Given the description of an element on the screen output the (x, y) to click on. 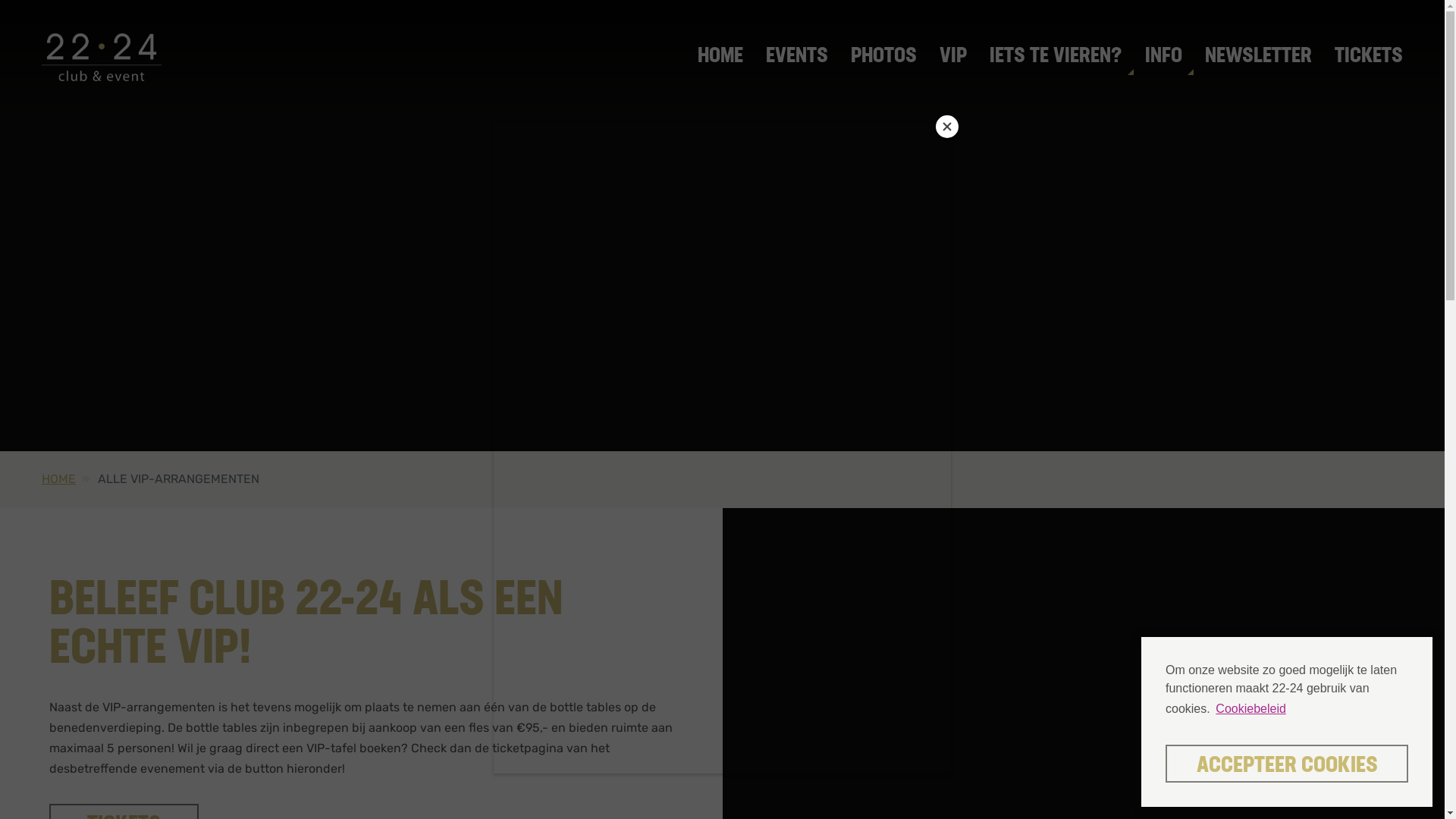
HOME Element type: text (720, 57)
IETS TE VIEREN? Element type: text (1055, 57)
TICKETS Element type: text (1362, 57)
EVENTS Element type: text (796, 57)
Cookiebeleid Element type: text (1250, 708)
VIP Element type: text (953, 57)
PHOTOS Element type: text (883, 57)
INFO Element type: text (1163, 57)
ACCEPTEER COOKIES Element type: text (1286, 763)
NEWSLETTER Element type: text (1258, 57)
HOME Element type: text (58, 478)
